Given the description of an element on the screen output the (x, y) to click on. 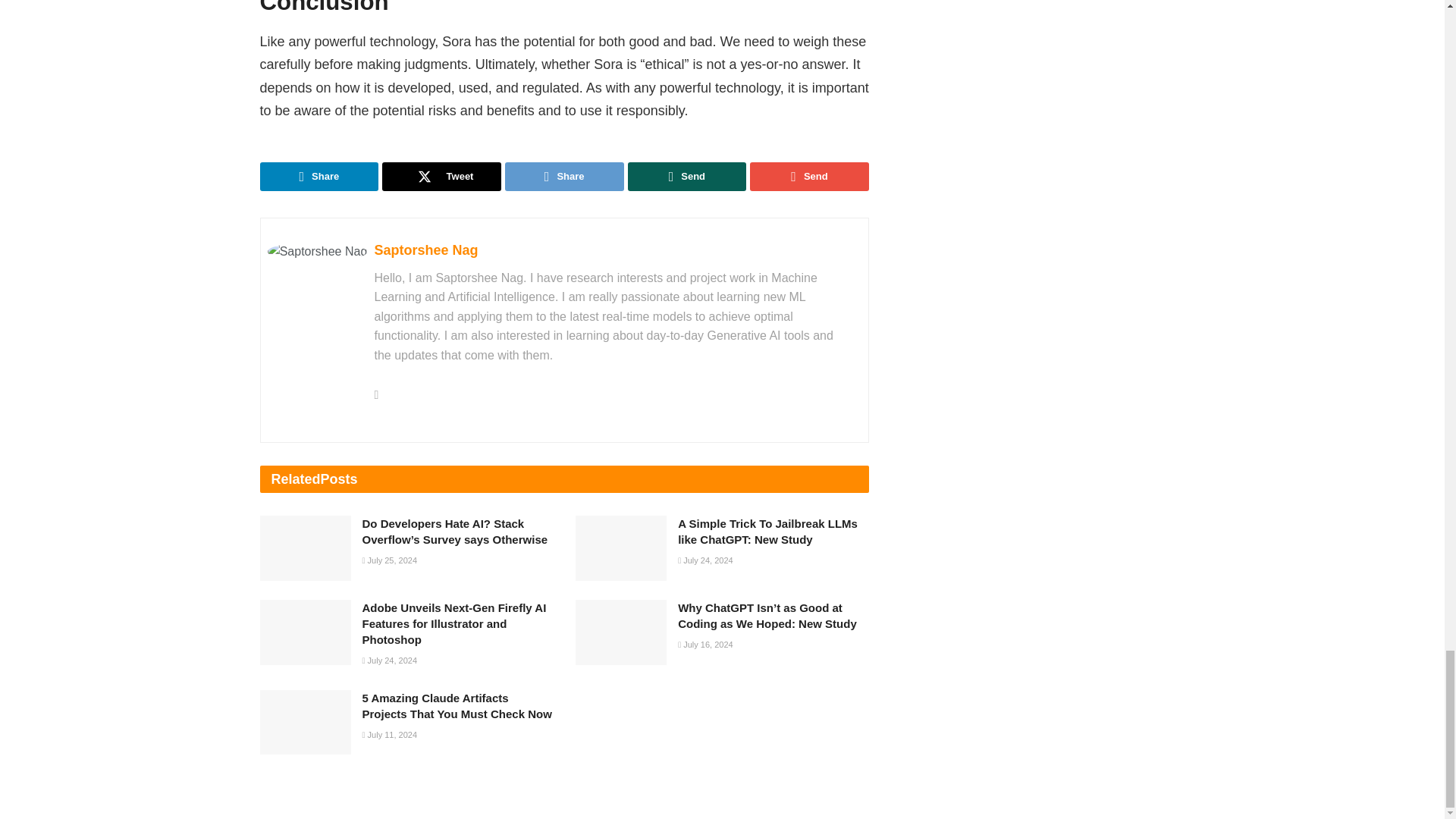
Share (318, 176)
